Given the description of an element on the screen output the (x, y) to click on. 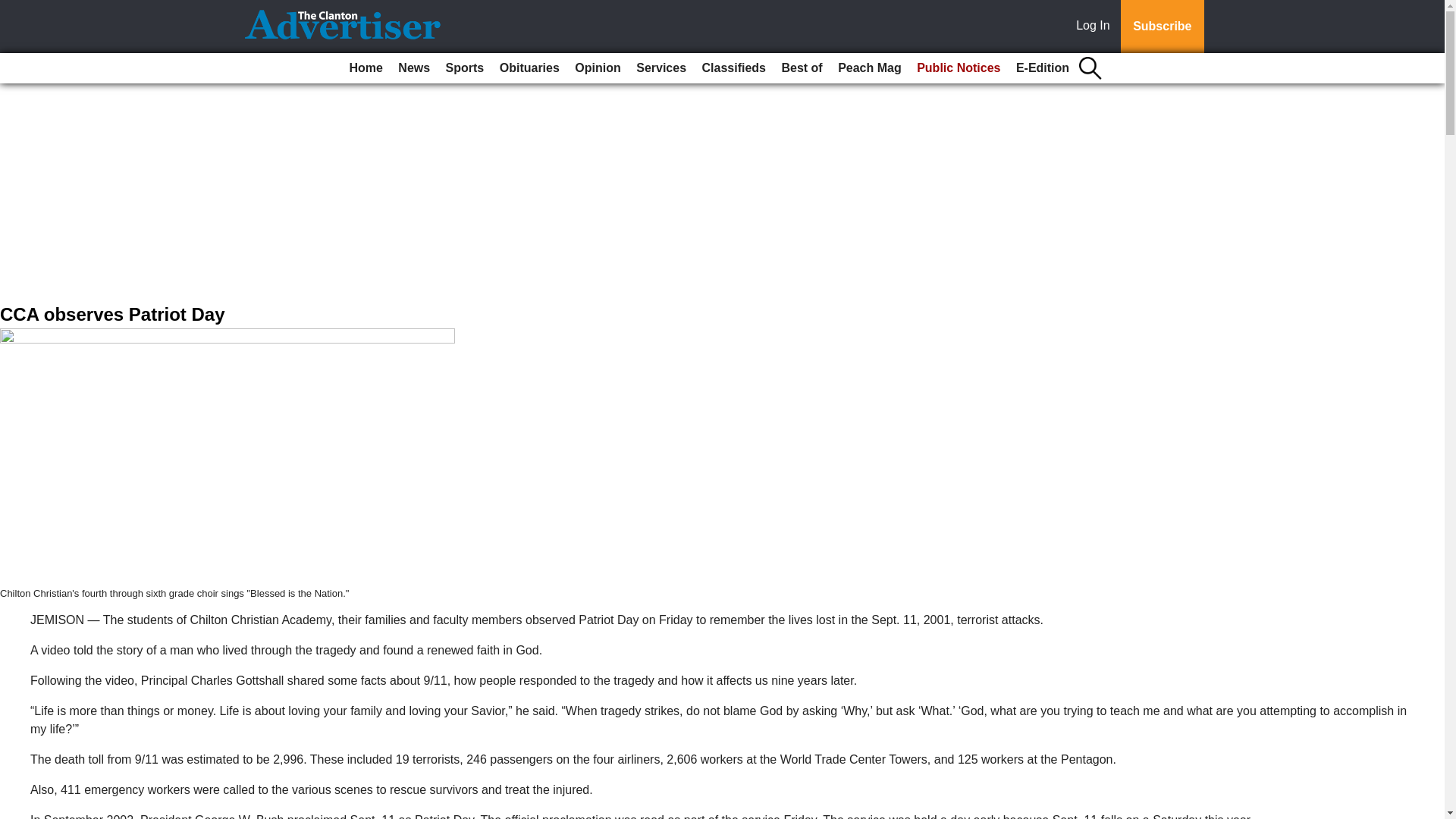
Peach Mag (869, 68)
Opinion (597, 68)
Go (13, 9)
9-12 patriotday (227, 457)
Sports (464, 68)
Obituaries (529, 68)
Subscribe (1162, 26)
Public Notices (958, 68)
Services (661, 68)
Log In (1095, 26)
E-Edition (1042, 68)
Best of (801, 68)
News (413, 68)
Classifieds (733, 68)
Home (365, 68)
